Given the description of an element on the screen output the (x, y) to click on. 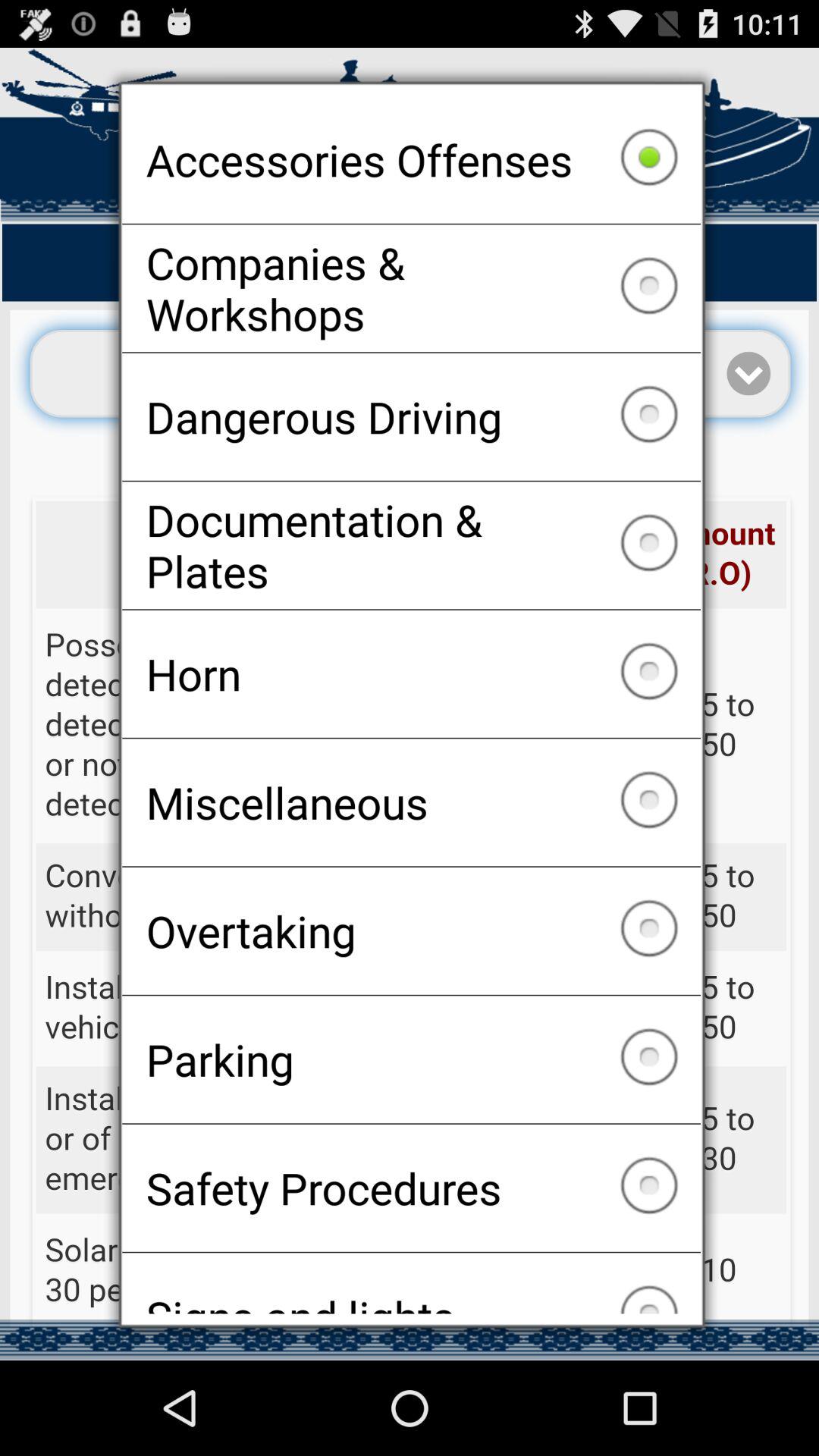
choose the item below accessories offenses item (411, 288)
